Given the description of an element on the screen output the (x, y) to click on. 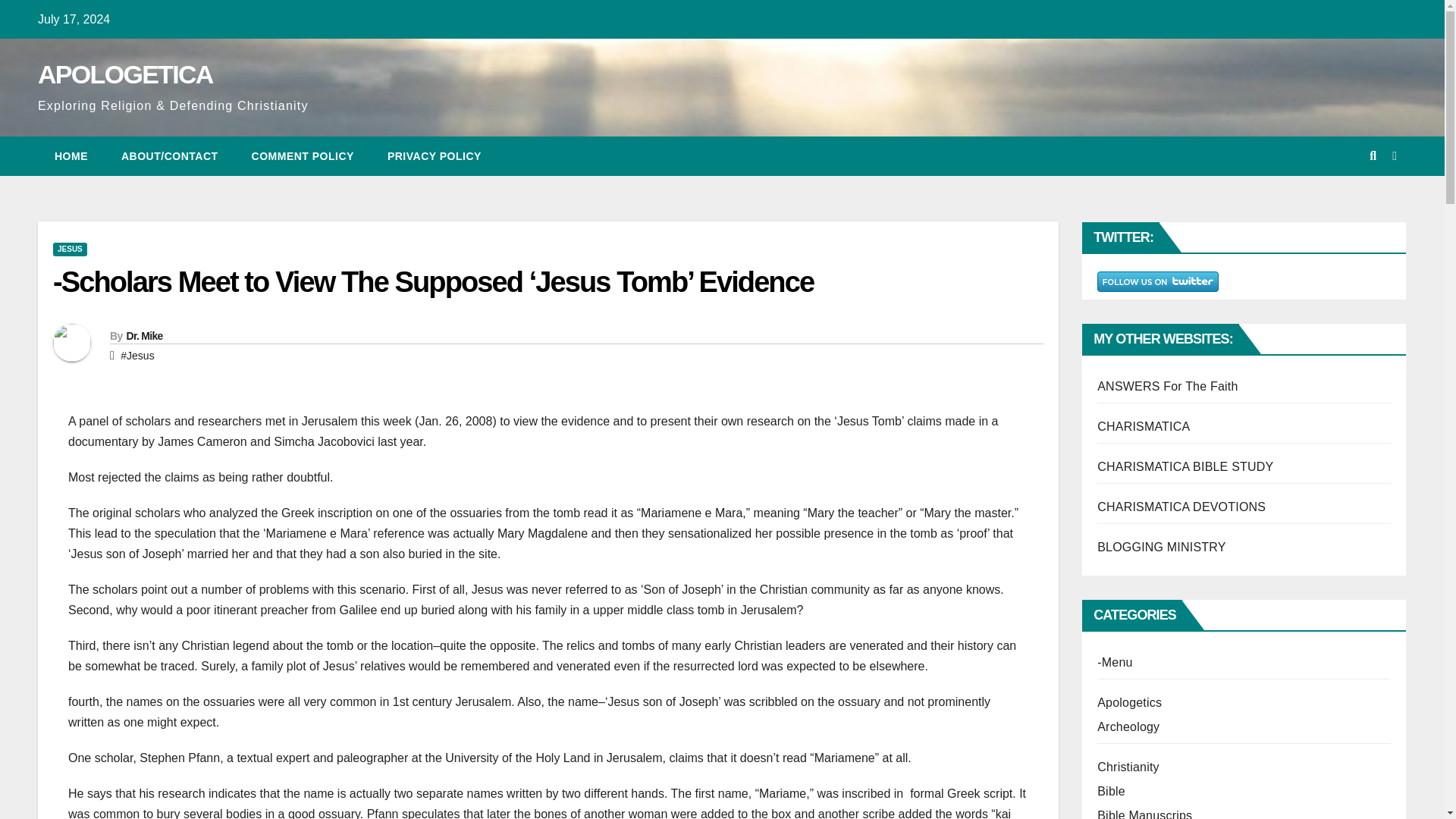
PRIVACY POLICY (434, 156)
COMMENT POLICY (302, 156)
HOME (70, 156)
JESUS (69, 249)
APOLOGETICA (124, 73)
Home (70, 156)
Dr. Mike (143, 336)
